Given the description of an element on the screen output the (x, y) to click on. 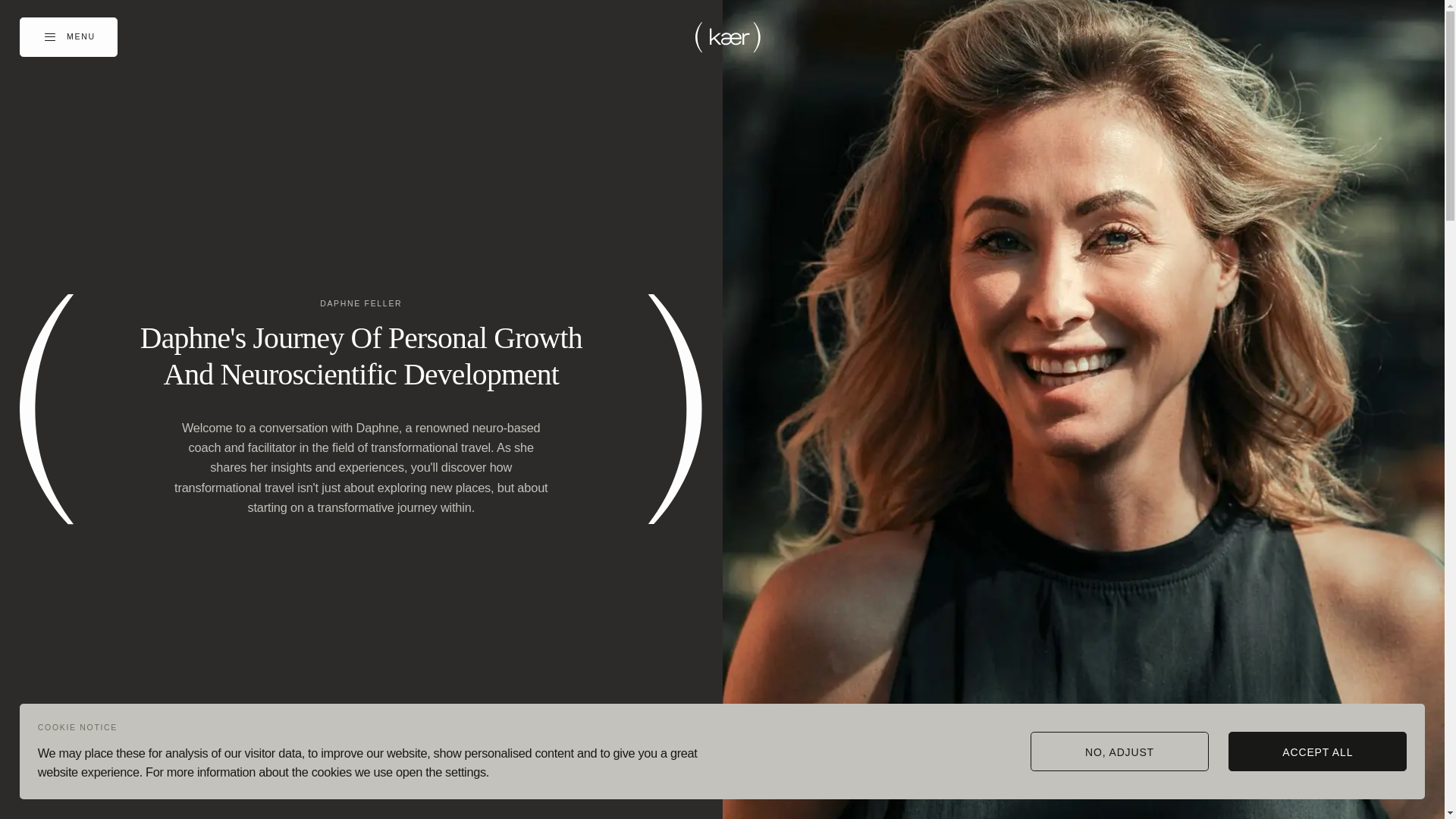
NO, ADJUST (1119, 751)
MENU (68, 36)
ACCEPT ALL (1317, 751)
Skip to main content (4, 3)
